Given the description of an element on the screen output the (x, y) to click on. 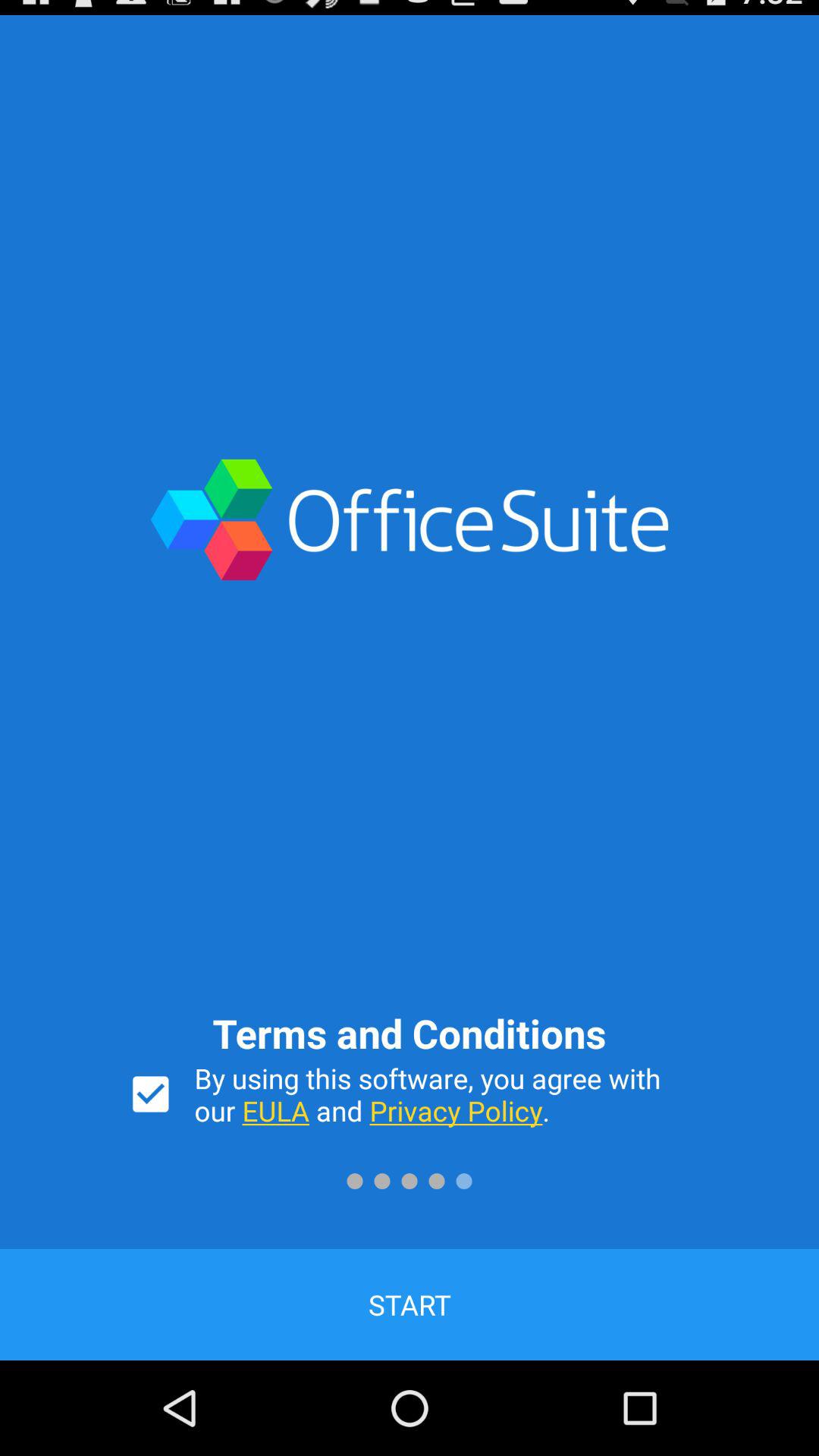
press the item to the left of by using this item (150, 1093)
